Given the description of an element on the screen output the (x, y) to click on. 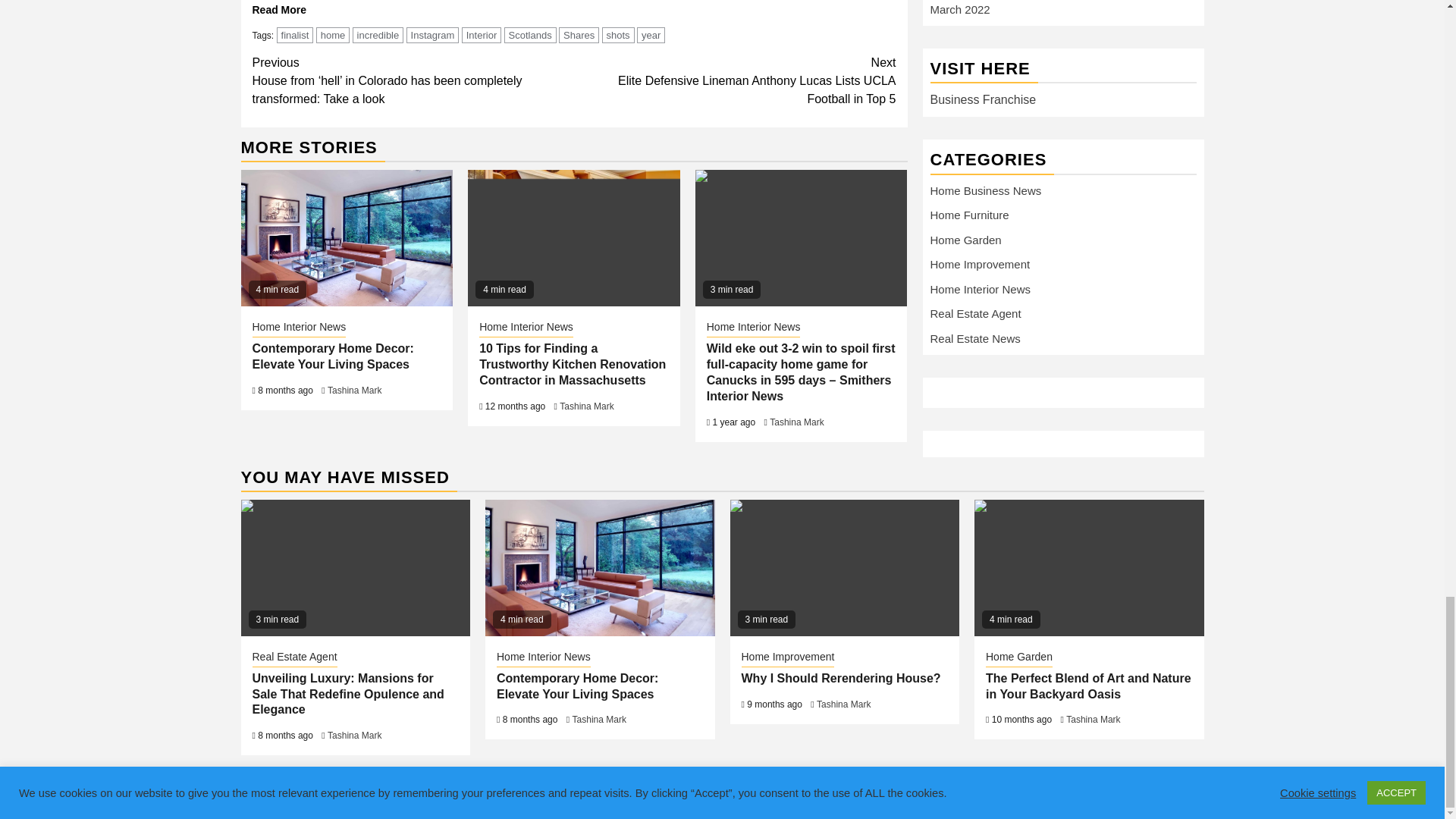
Why i should rerendering house? (844, 567)
year (651, 35)
Contemporary Home Decor: Elevate Your Living Spaces (599, 567)
Contemporary Home Decor: Elevate Your Living Spaces (346, 237)
shots (618, 35)
Shares (578, 35)
Scotlands (529, 35)
finalist (295, 35)
Instagram (433, 35)
